Given the description of an element on the screen output the (x, y) to click on. 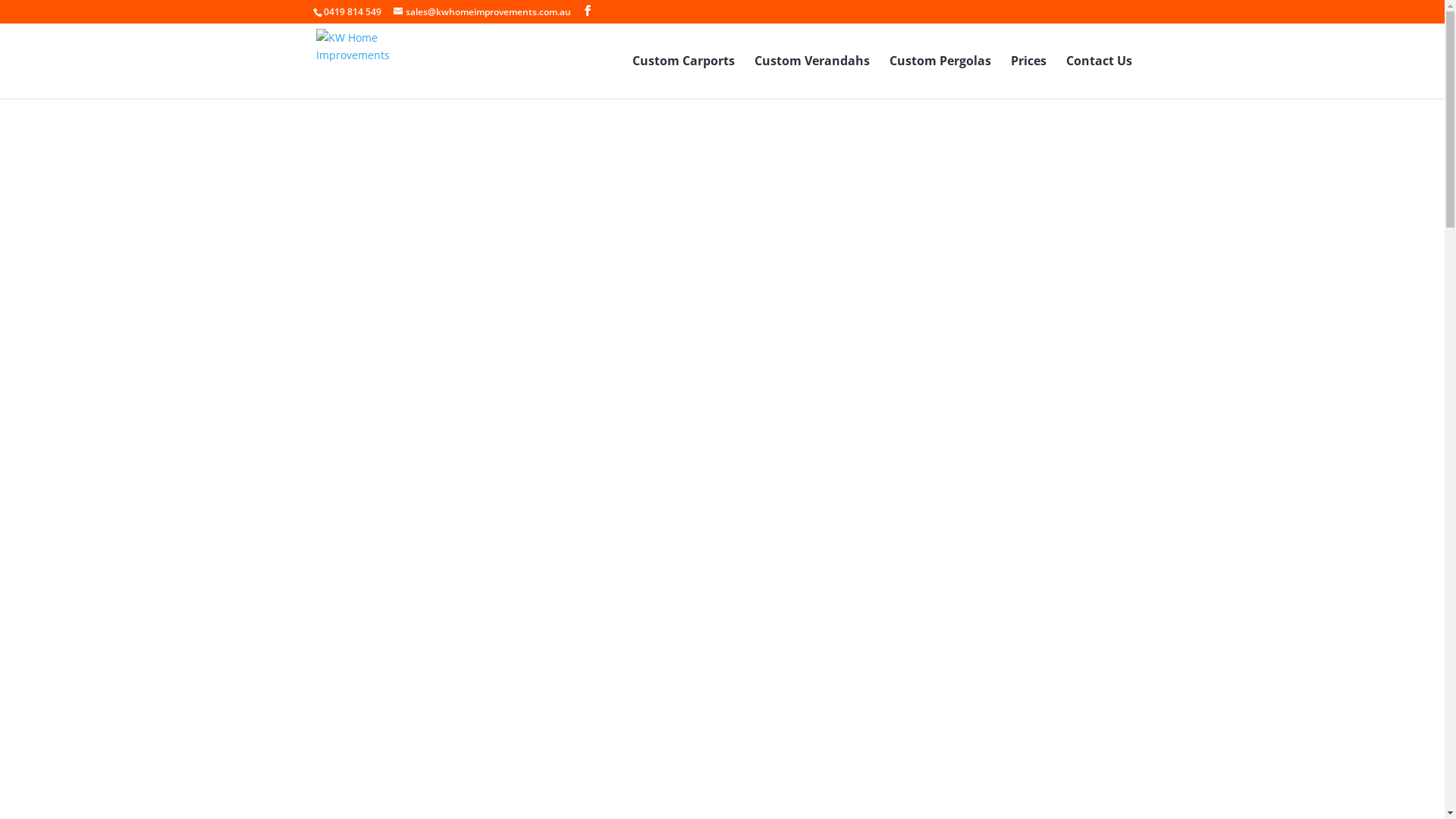
Custom Pergolas Element type: text (939, 76)
Prices Element type: text (1027, 76)
sales@kwhomeimprovements.com.au Element type: text (481, 11)
Contact Us Element type: text (1099, 76)
Custom Carports Element type: text (683, 76)
Custom Verandahs Element type: text (811, 76)
